Given the description of an element on the screen output the (x, y) to click on. 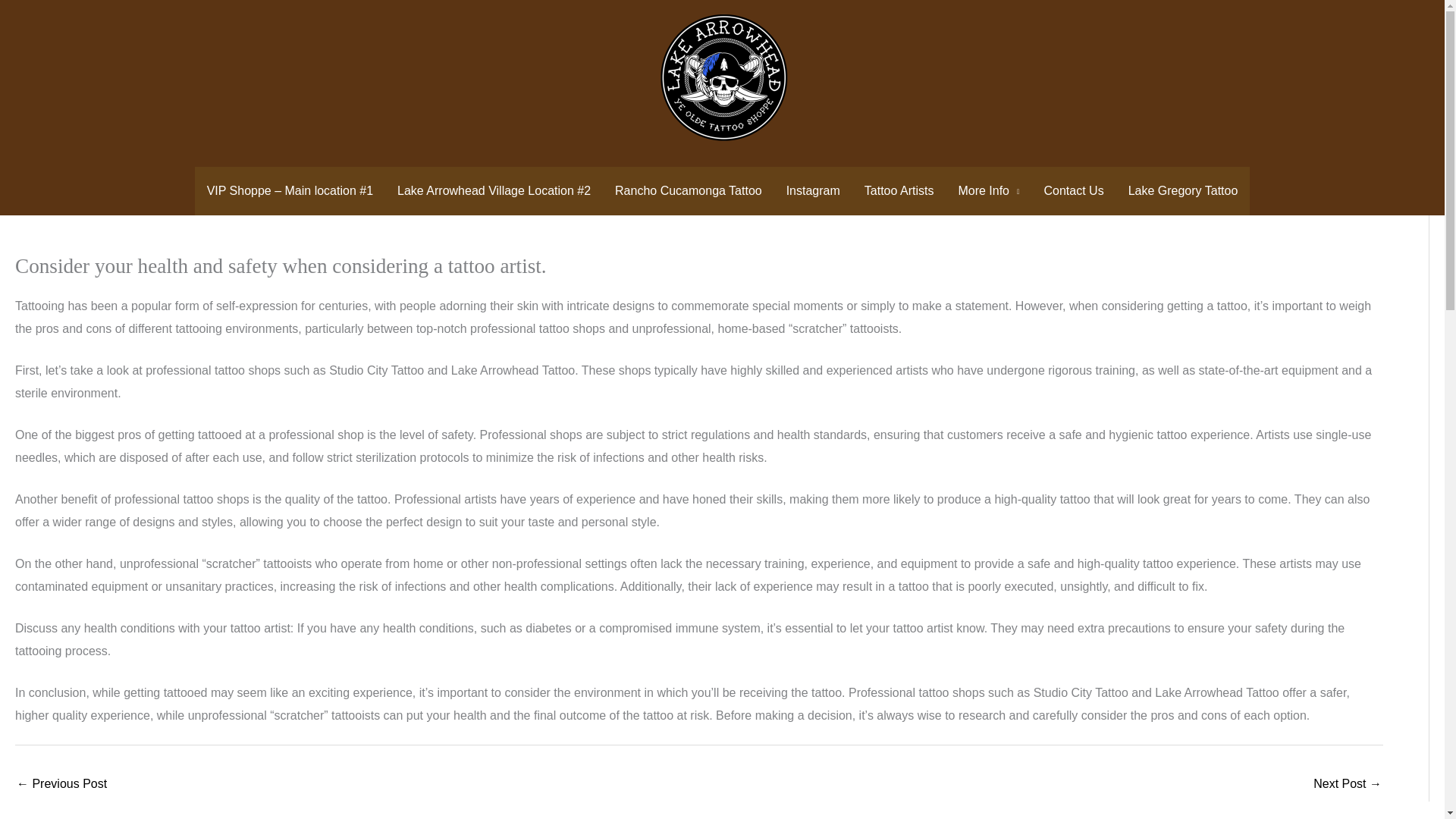
More Info (987, 191)
Clay (91, 88)
What are the 12 most popular classic tattoo styles (1347, 785)
Instagram (812, 191)
View all posts by Clay (91, 88)
Tattoo Artists (898, 191)
Rancho Cucamonga Tattoo (688, 191)
Lake Gregory Tattoo (1183, 191)
News (36, 88)
Contact Us (1074, 191)
